Given the description of an element on the screen output the (x, y) to click on. 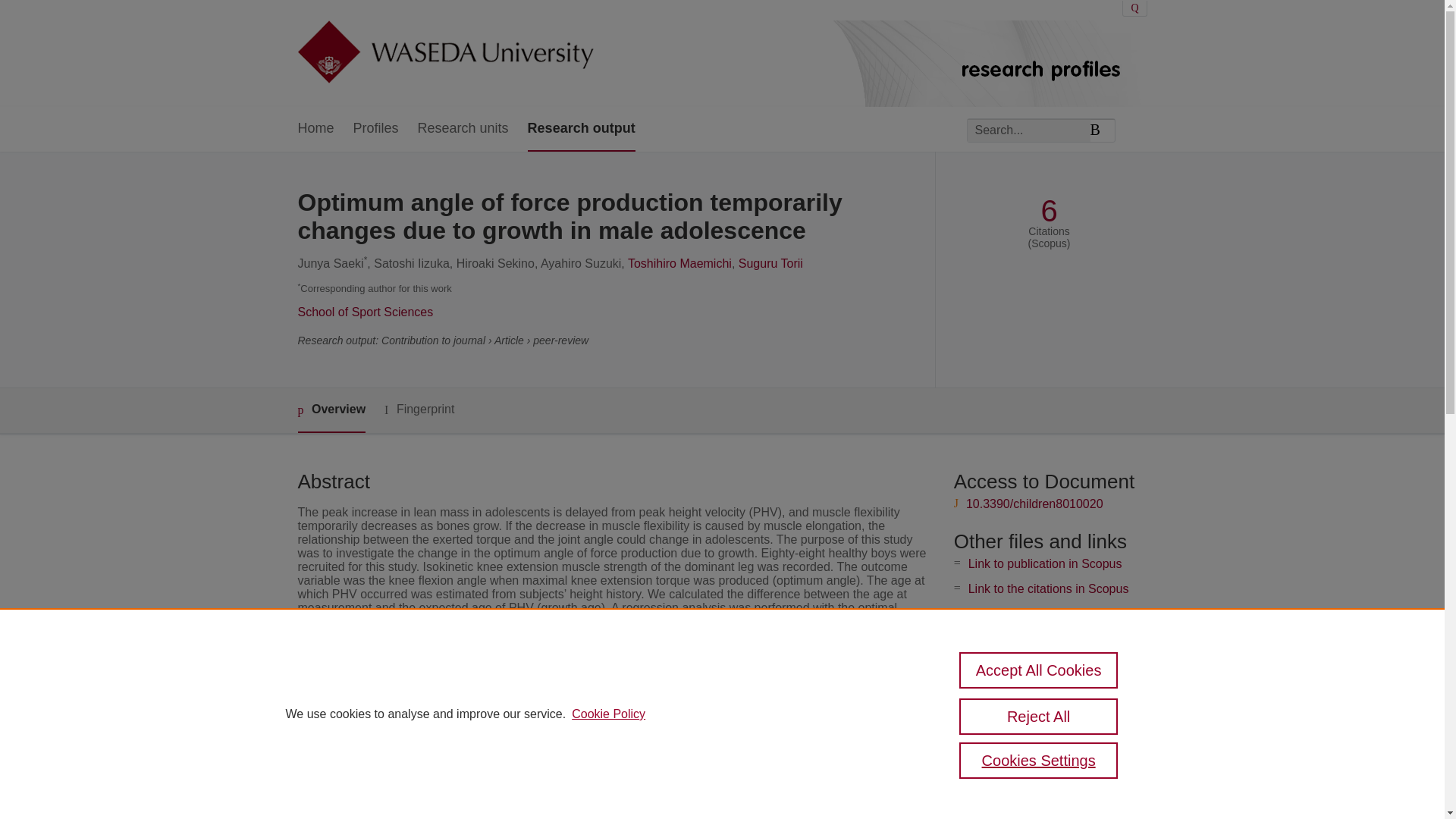
School of Sport Sciences (364, 311)
Children (534, 735)
Research output (580, 129)
Link to publication in Scopus (1045, 563)
Toshihiro Maemichi (679, 263)
Overview (331, 410)
Link to the citations in Scopus (1048, 588)
Suguru Torii (770, 263)
Research units (462, 129)
Waseda University Home (444, 53)
Fingerprint (419, 409)
Profiles (375, 129)
